Given the description of an element on the screen output the (x, y) to click on. 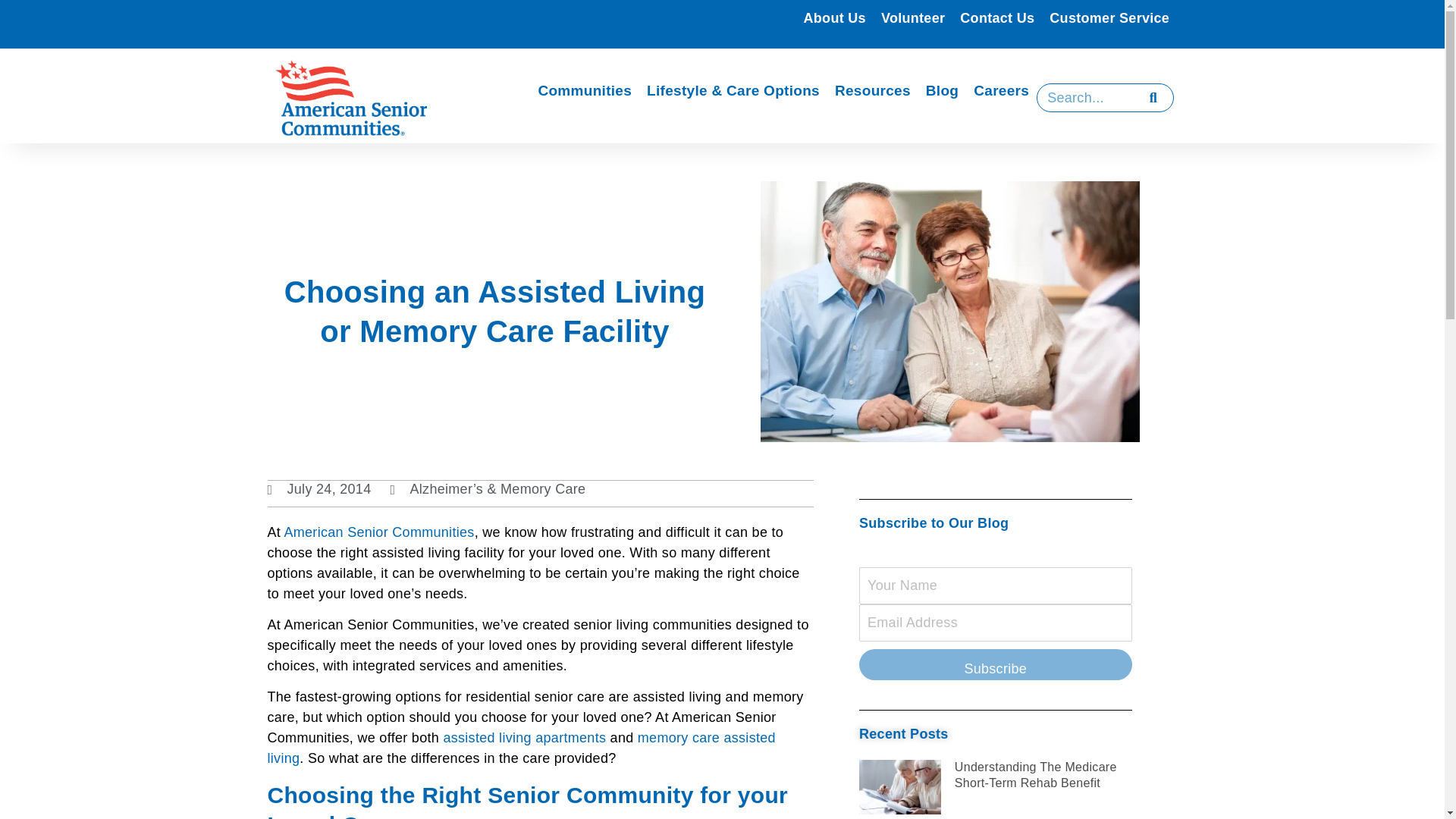
About Us (834, 18)
Contact Us (997, 18)
Volunteer (912, 18)
Customer Service (1109, 18)
Communities (584, 91)
